Given the description of an element on the screen output the (x, y) to click on. 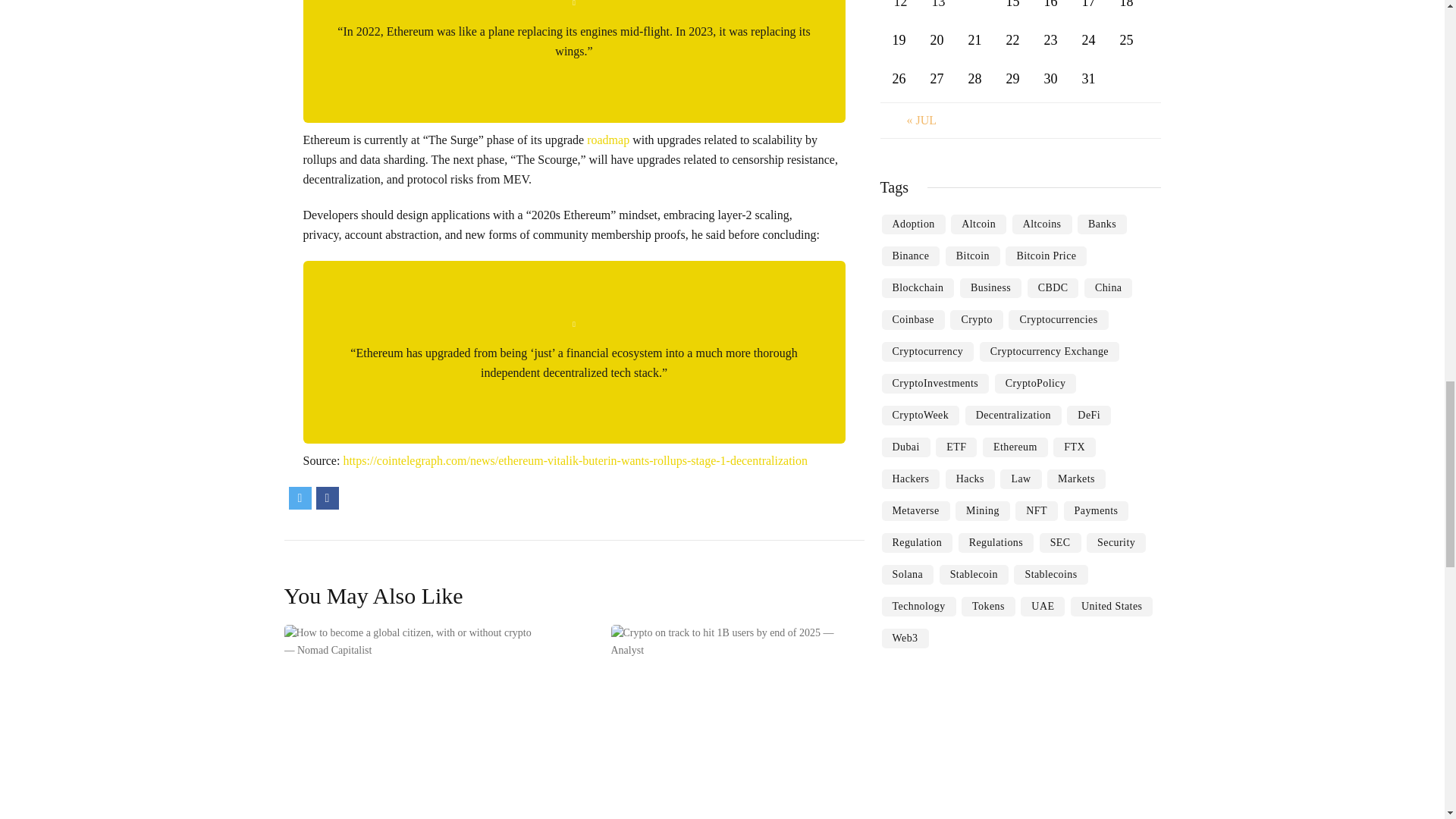
Share on Facebook (326, 497)
Share on Twitter (299, 497)
Share on Reddit (353, 497)
